Given the description of an element on the screen output the (x, y) to click on. 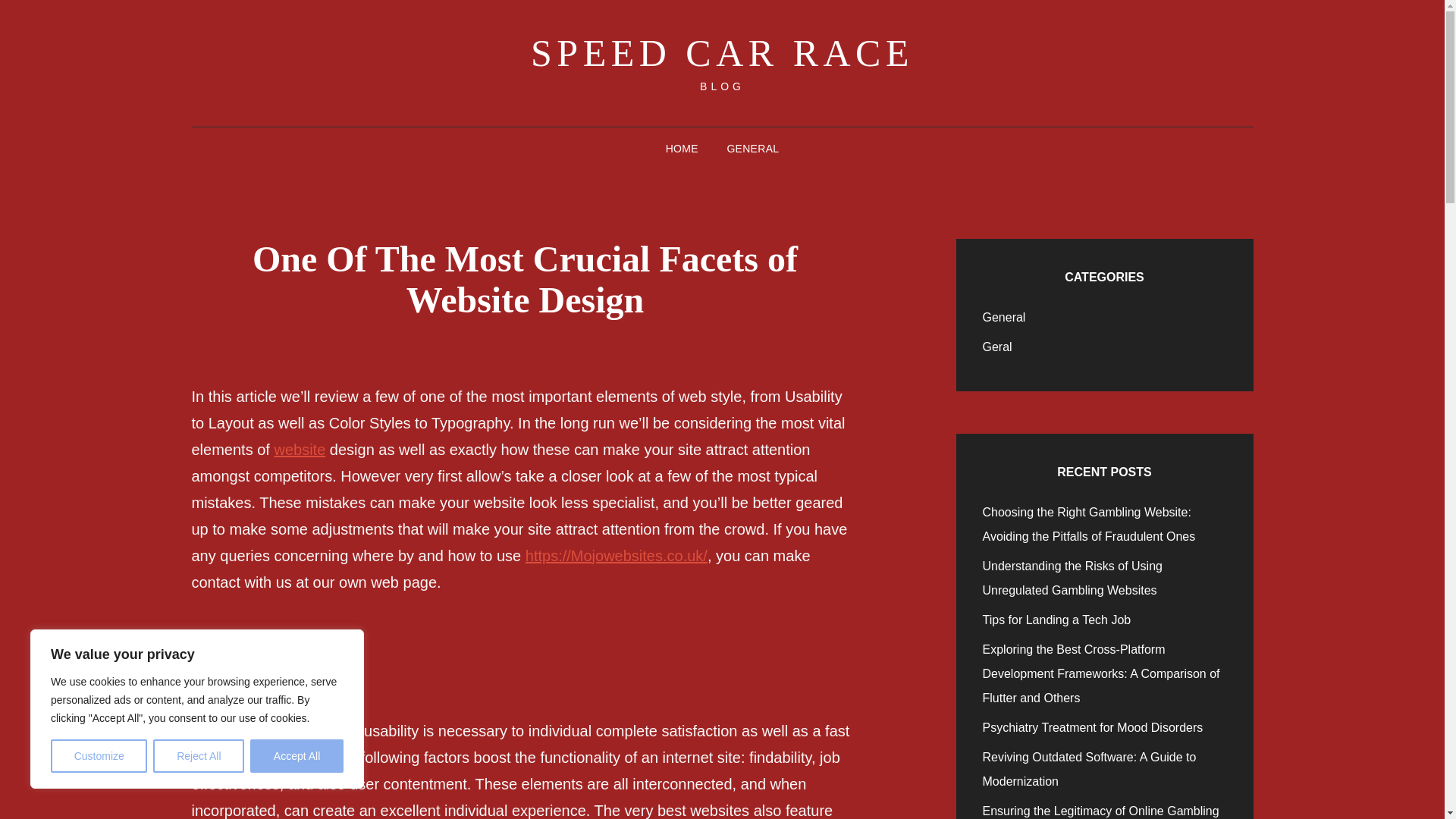
website (298, 449)
GENERAL (752, 148)
General (1004, 317)
Geral (996, 346)
Reviving Outdated Software: A Guide to Modernization (1089, 769)
Psychiatry Treatment for Mood Disorders (1093, 727)
Customize (98, 756)
Reject All (198, 756)
Accept All (296, 756)
SPEED CAR RACE (722, 52)
Ensuring the Legitimacy of Online Gambling Platforms (1101, 811)
HOME (681, 148)
